Given the description of an element on the screen output the (x, y) to click on. 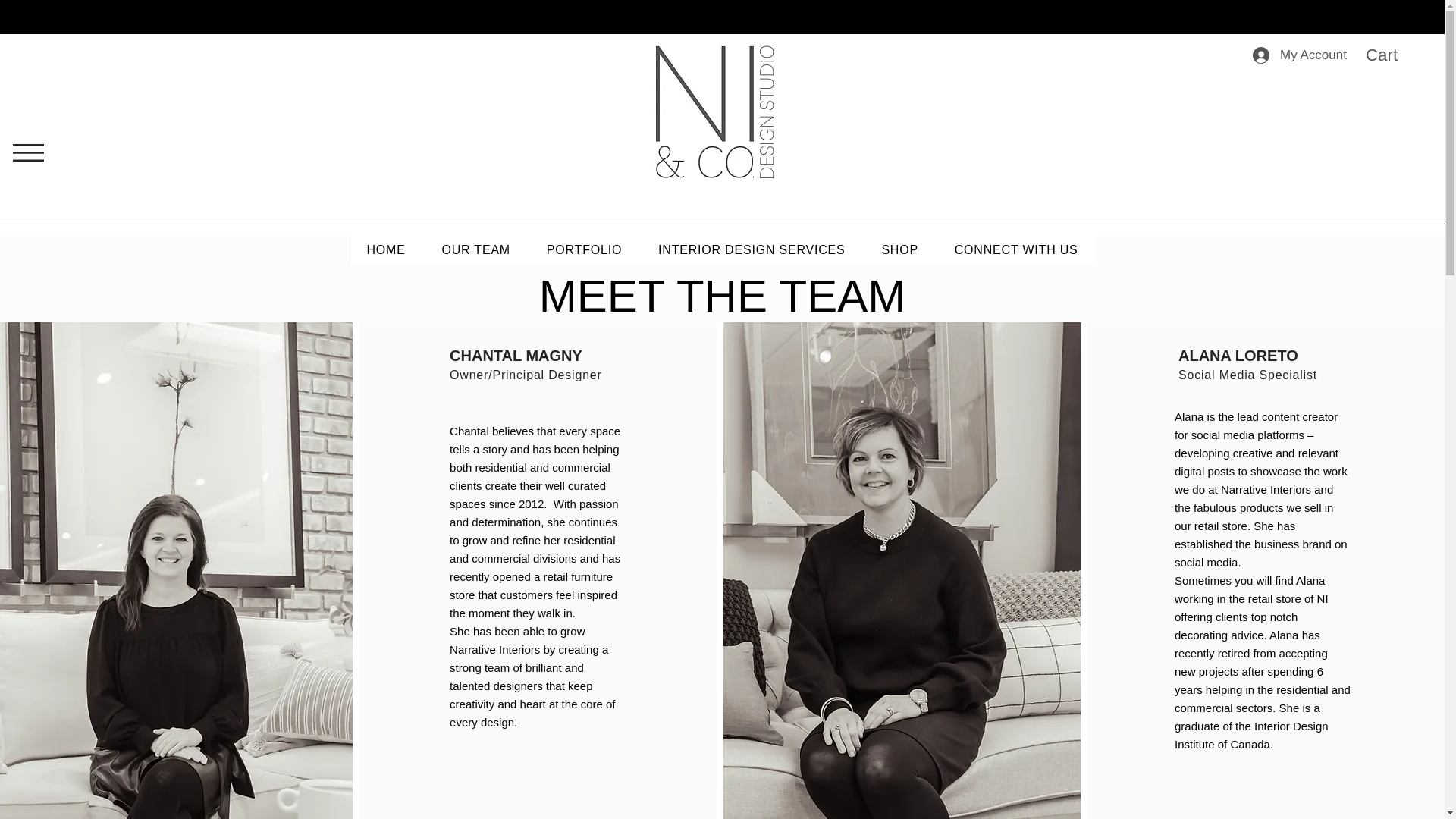
OUR TEAM (475, 249)
Cart (1395, 54)
PORTFOLIO (584, 249)
HOME (385, 249)
INTERIOR DESIGN SERVICES (751, 249)
Cart (1395, 54)
My Account (1296, 54)
Narrative Interiors (805, 55)
